Given the description of an element on the screen output the (x, y) to click on. 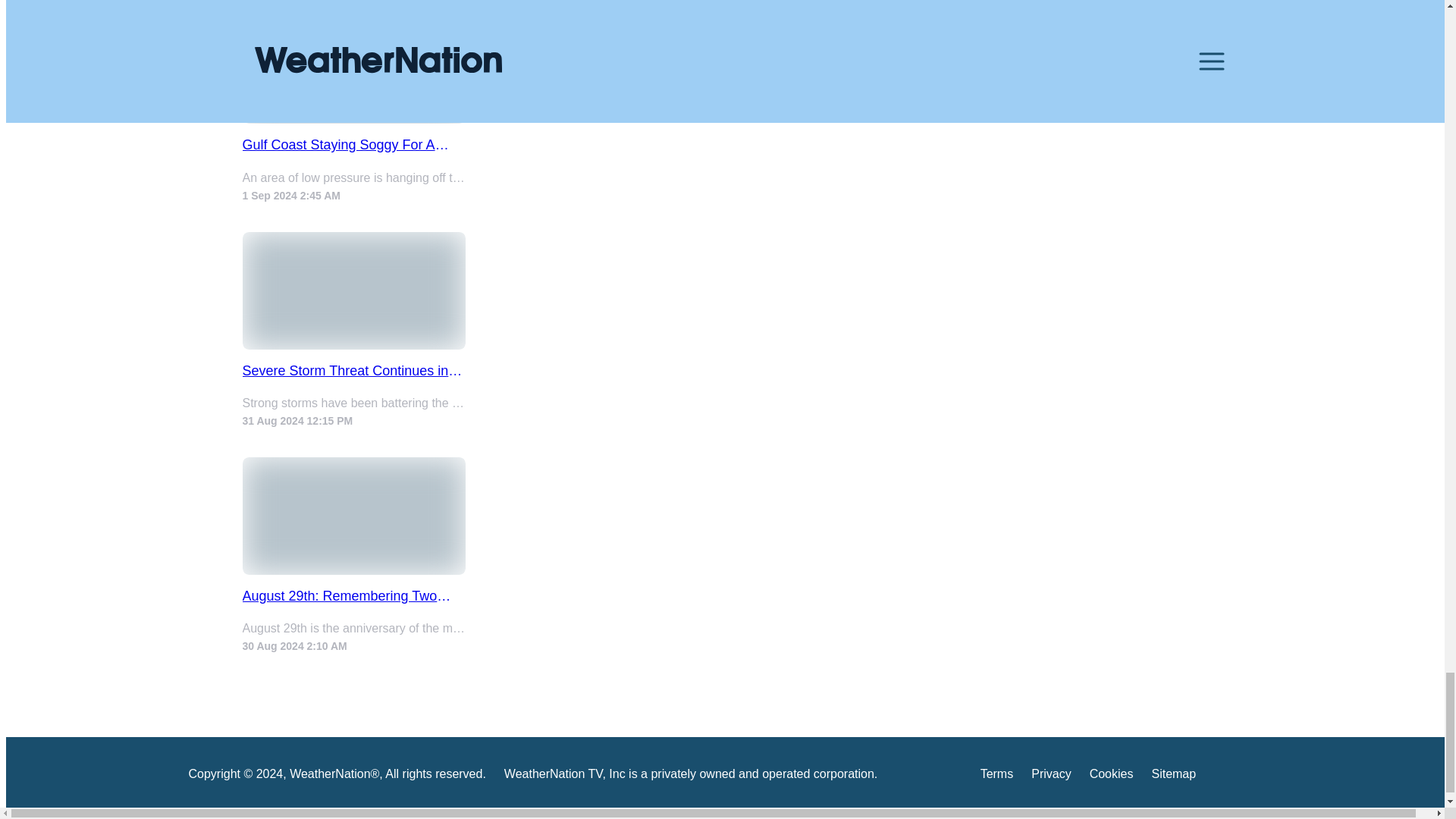
Cookies (1111, 776)
Terms (996, 776)
Privacy (1050, 776)
Severe Storm Threat Continues in the Midwest (354, 371)
Gulf Coast Staying Soggy For A While (354, 145)
Sitemap (1173, 776)
